Given the description of an element on the screen output the (x, y) to click on. 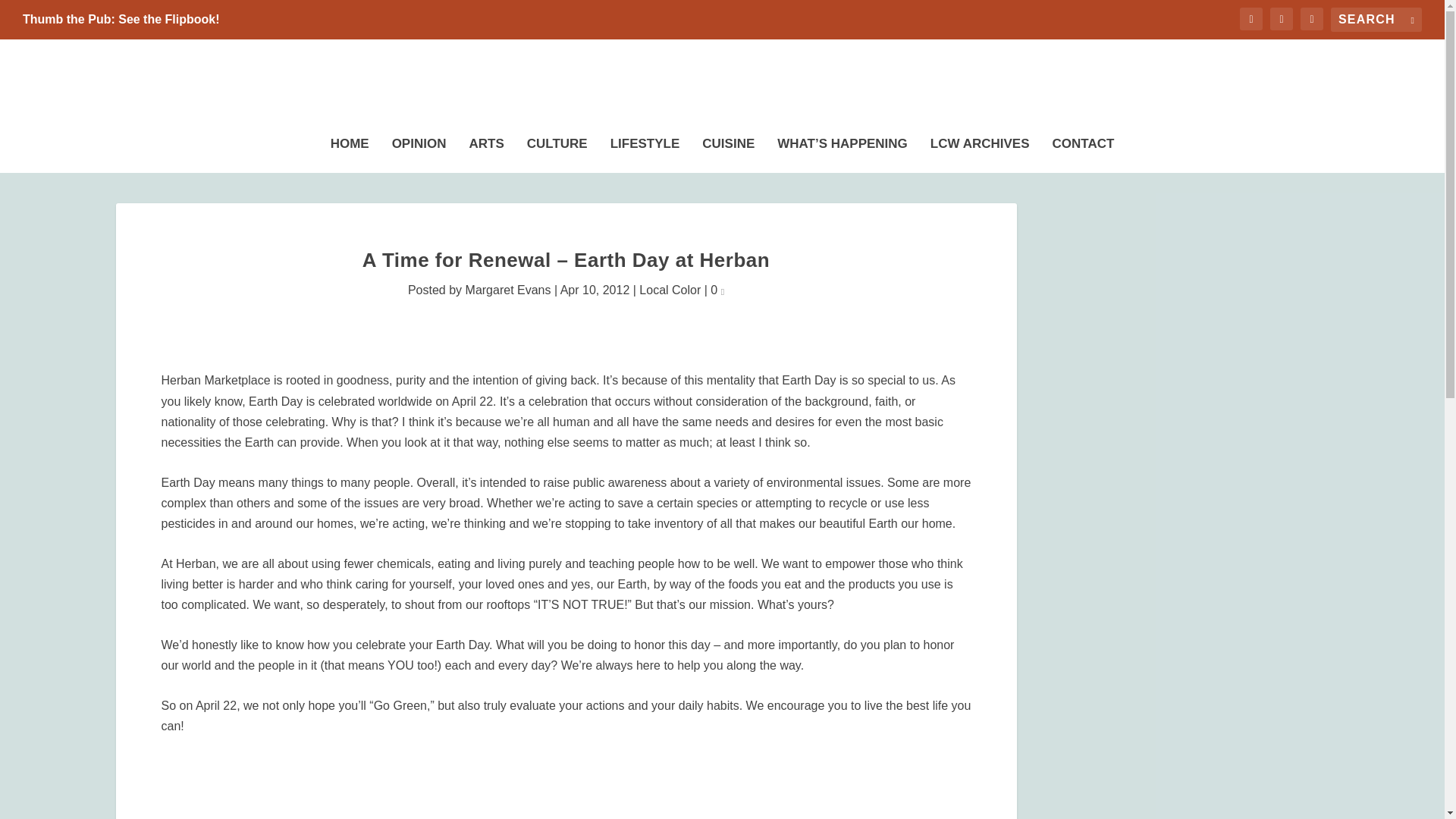
comment count (721, 291)
0 (716, 289)
LIFESTYLE (644, 151)
Thumb the Pub: See the Flipbook! (121, 19)
HOME (349, 151)
Posts by Margaret Evans (508, 289)
ARTS (485, 151)
CUISINE (727, 151)
CONTACT (1083, 151)
Local Color (669, 289)
LCW ARCHIVES (979, 151)
Search for: (1376, 19)
CULTURE (557, 151)
OPINION (418, 151)
Margaret Evans (508, 289)
